Given the description of an element on the screen output the (x, y) to click on. 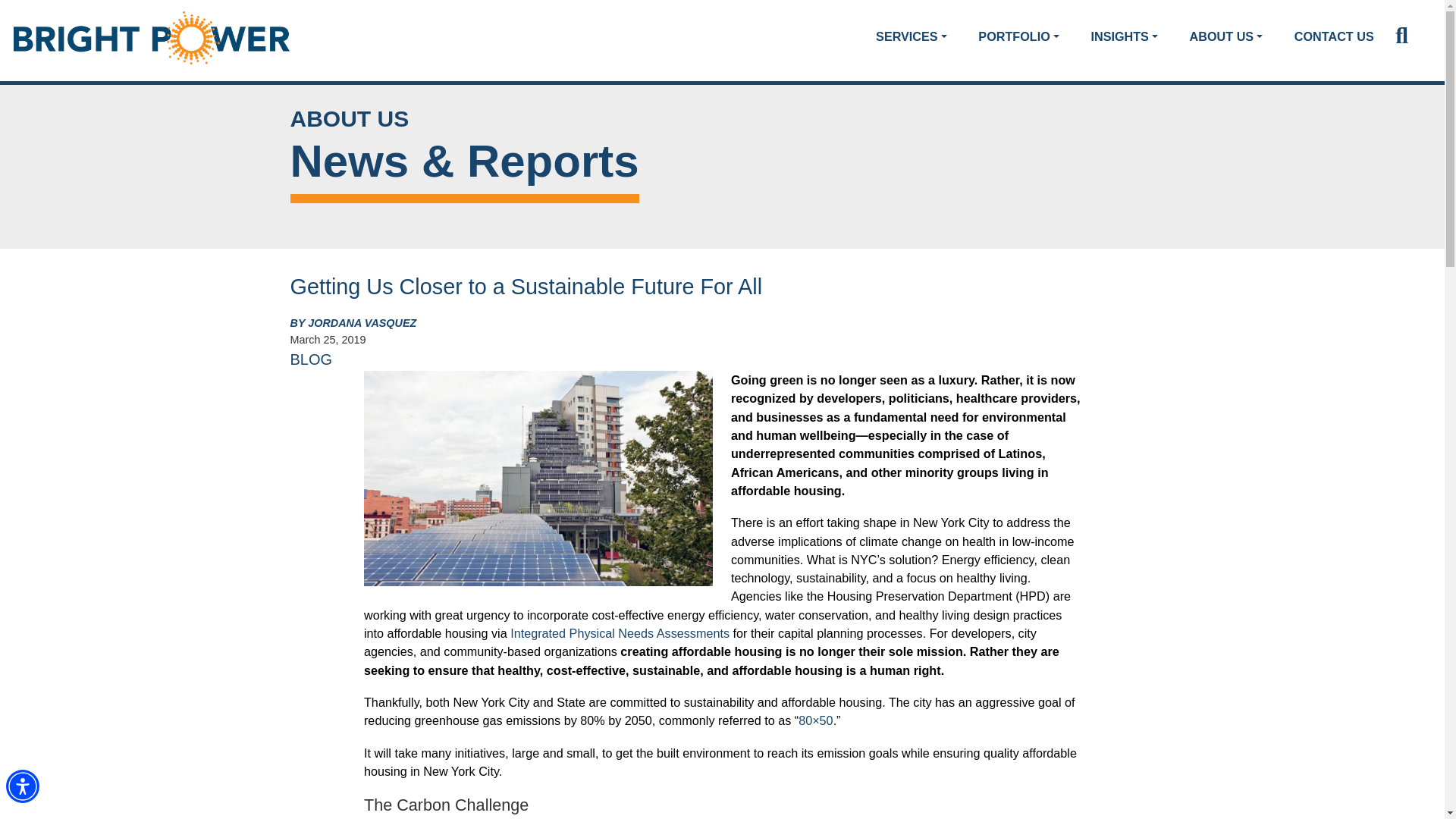
PORTFOLIO (1018, 36)
SERVICES (910, 36)
Services (910, 36)
Accessibility Menu (22, 786)
